Given the description of an element on the screen output the (x, y) to click on. 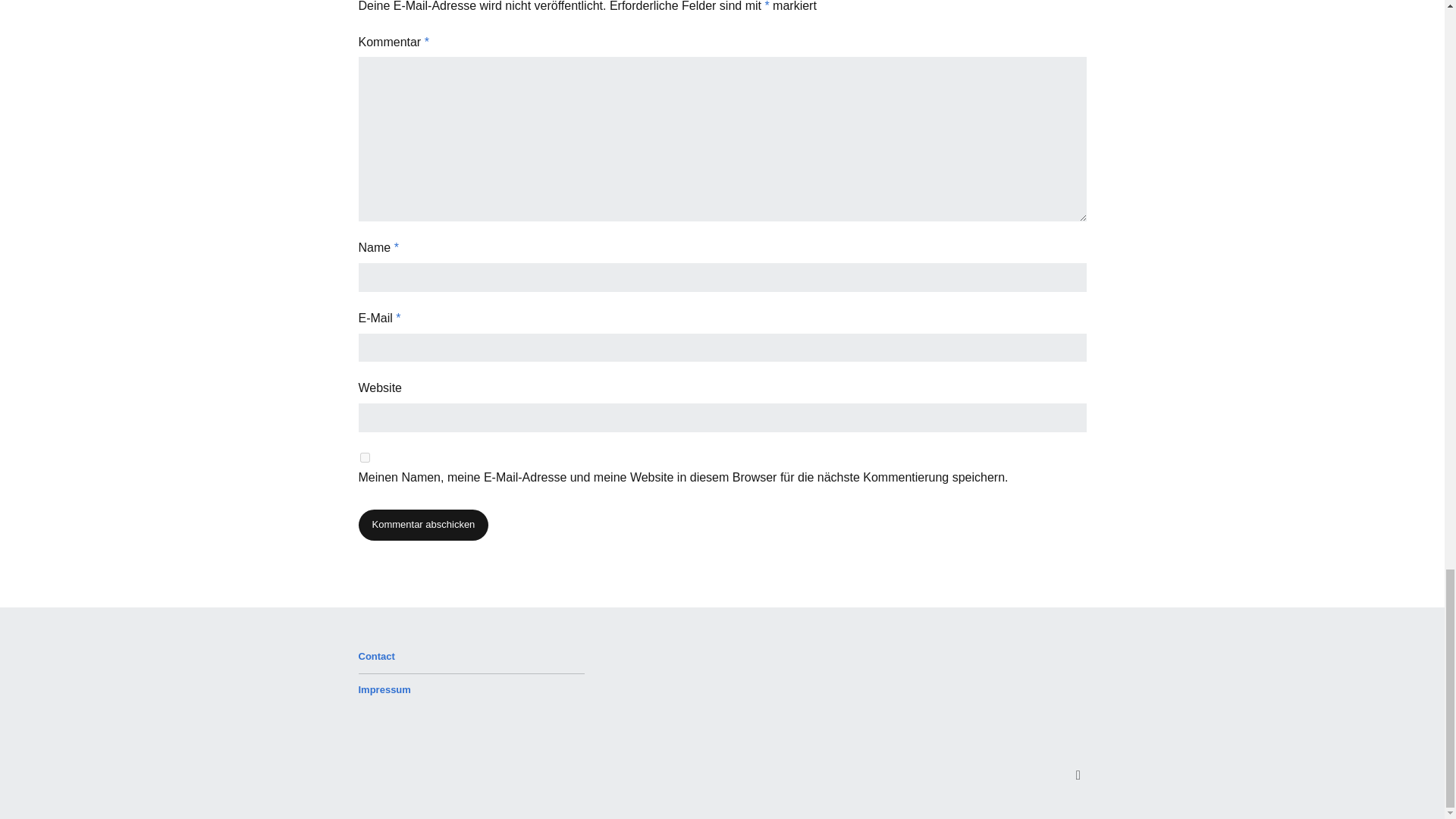
yes (364, 457)
Impressum (384, 689)
Kommentar abschicken (422, 524)
Kommentar abschicken (422, 524)
Contact (376, 655)
